Given the description of an element on the screen output the (x, y) to click on. 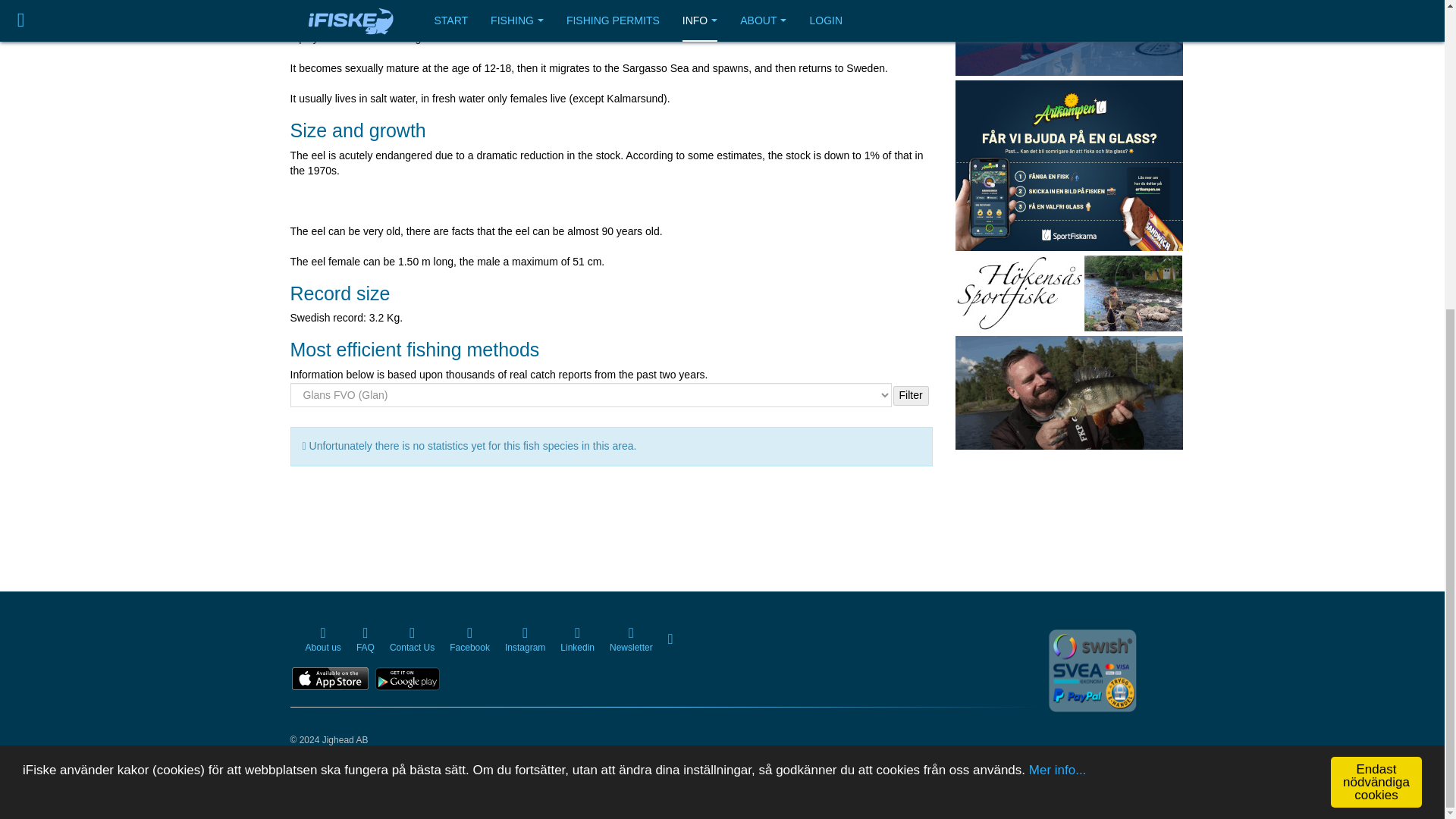
Lubbeland (1068, 391)
Filter (910, 395)
Artkampen (1068, 164)
Mer info... (1057, 372)
